Given the description of an element on the screen output the (x, y) to click on. 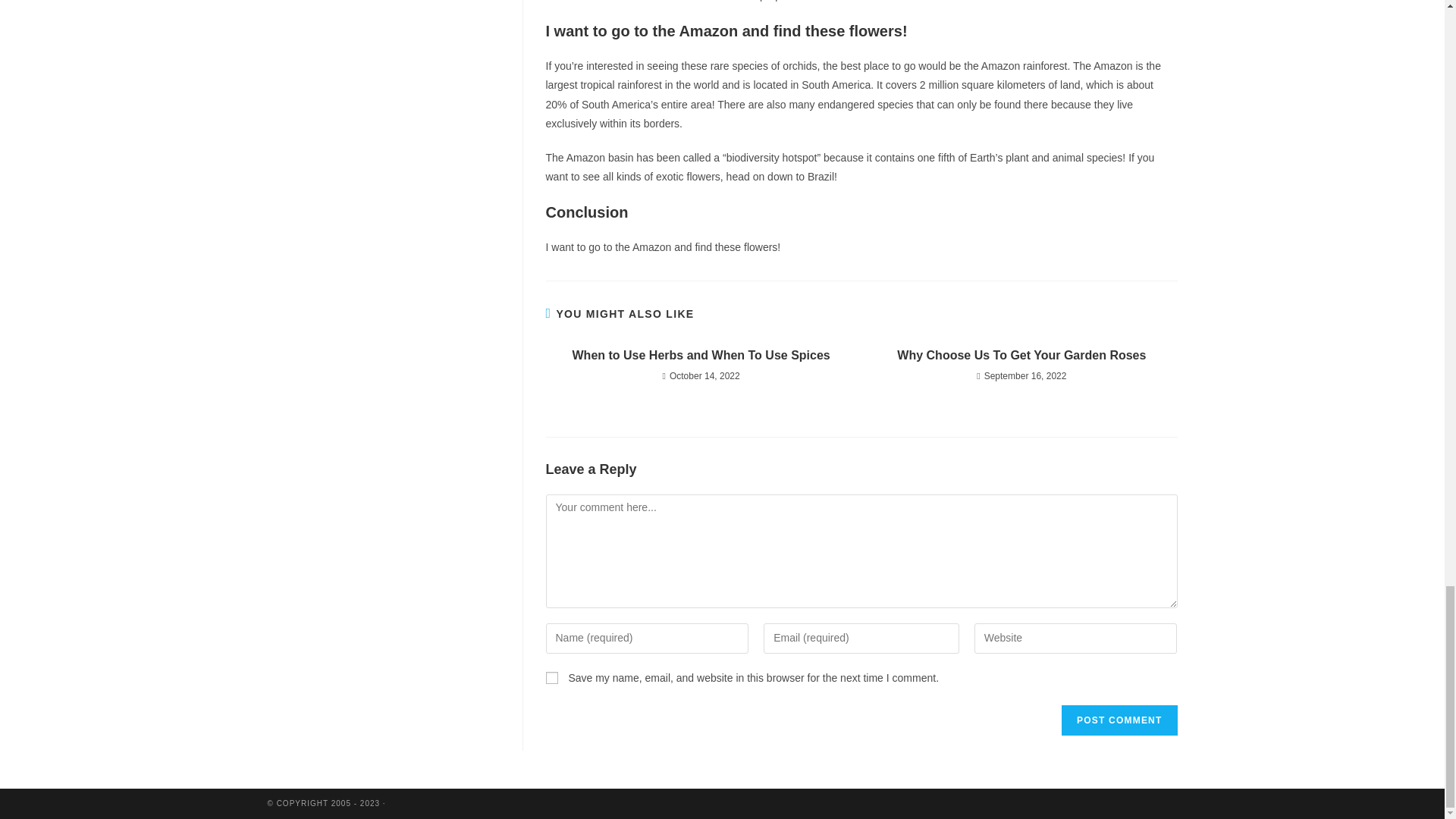
Why Choose Us To Get Your Garden Roses (1021, 355)
When to Use Herbs and When To Use Spices (700, 355)
yes (551, 677)
Post Comment (1118, 720)
Post Comment (1118, 720)
